Given the description of an element on the screen output the (x, y) to click on. 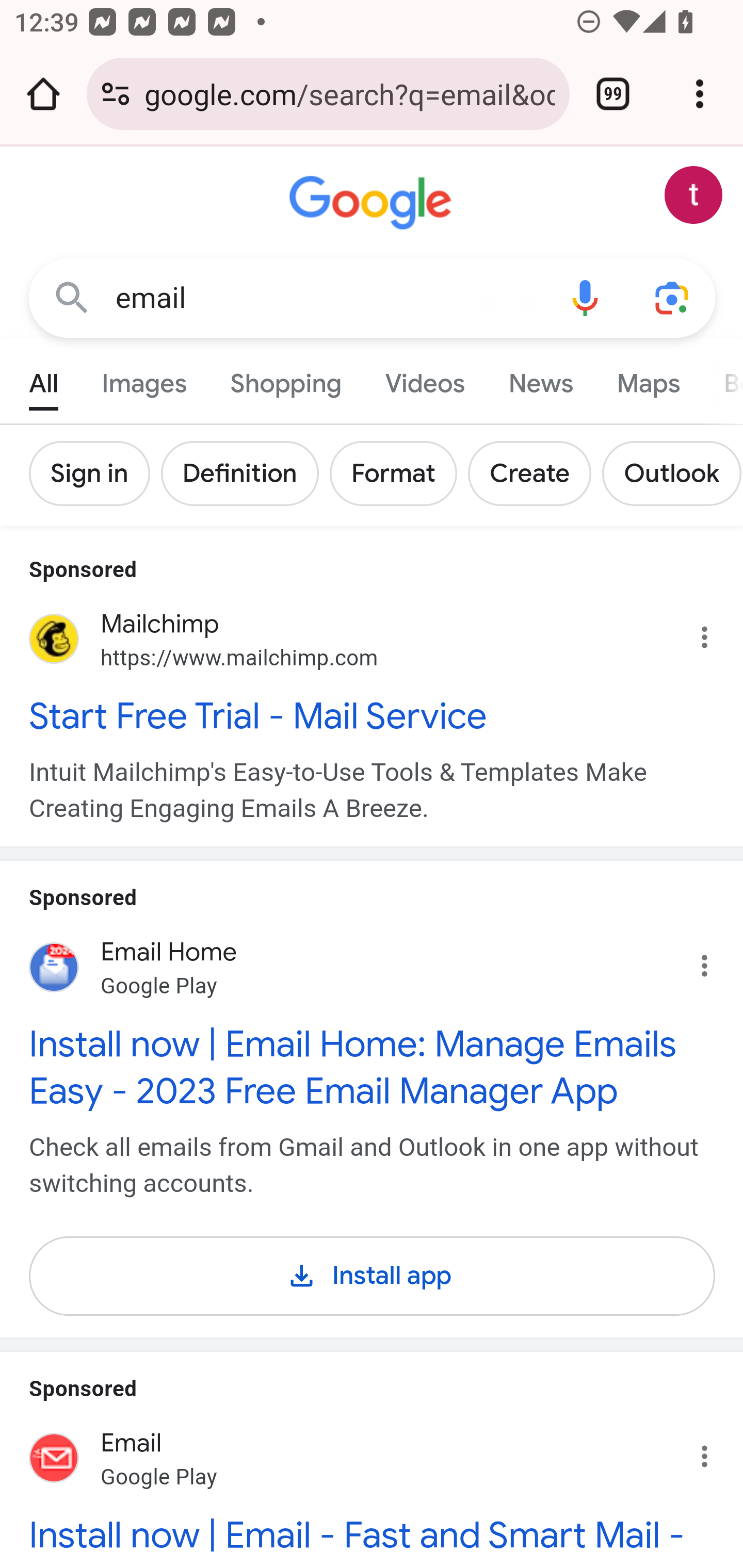
Open the home page (43, 93)
Connection is secure (115, 93)
Switch or close tabs (612, 93)
Customize and control Google Chrome (699, 93)
Google (372, 203)
Google Search (71, 296)
Search using your camera or photos (672, 296)
email (328, 297)
Images (144, 378)
Shopping (285, 378)
Videos (424, 378)
News (540, 378)
Maps (647, 378)
Add Sign in Sign in (95, 473)
Add Definition Definition (244, 473)
Add Format Format (398, 473)
Add Create Create (535, 473)
Add Outlook Outlook (672, 473)
Why this ad? (714, 632)
Start Free Trial - Mail Service (372, 714)
Why this ad? (714, 959)
Install app (372, 1272)
Why this ad? (714, 1450)
